Given the description of an element on the screen output the (x, y) to click on. 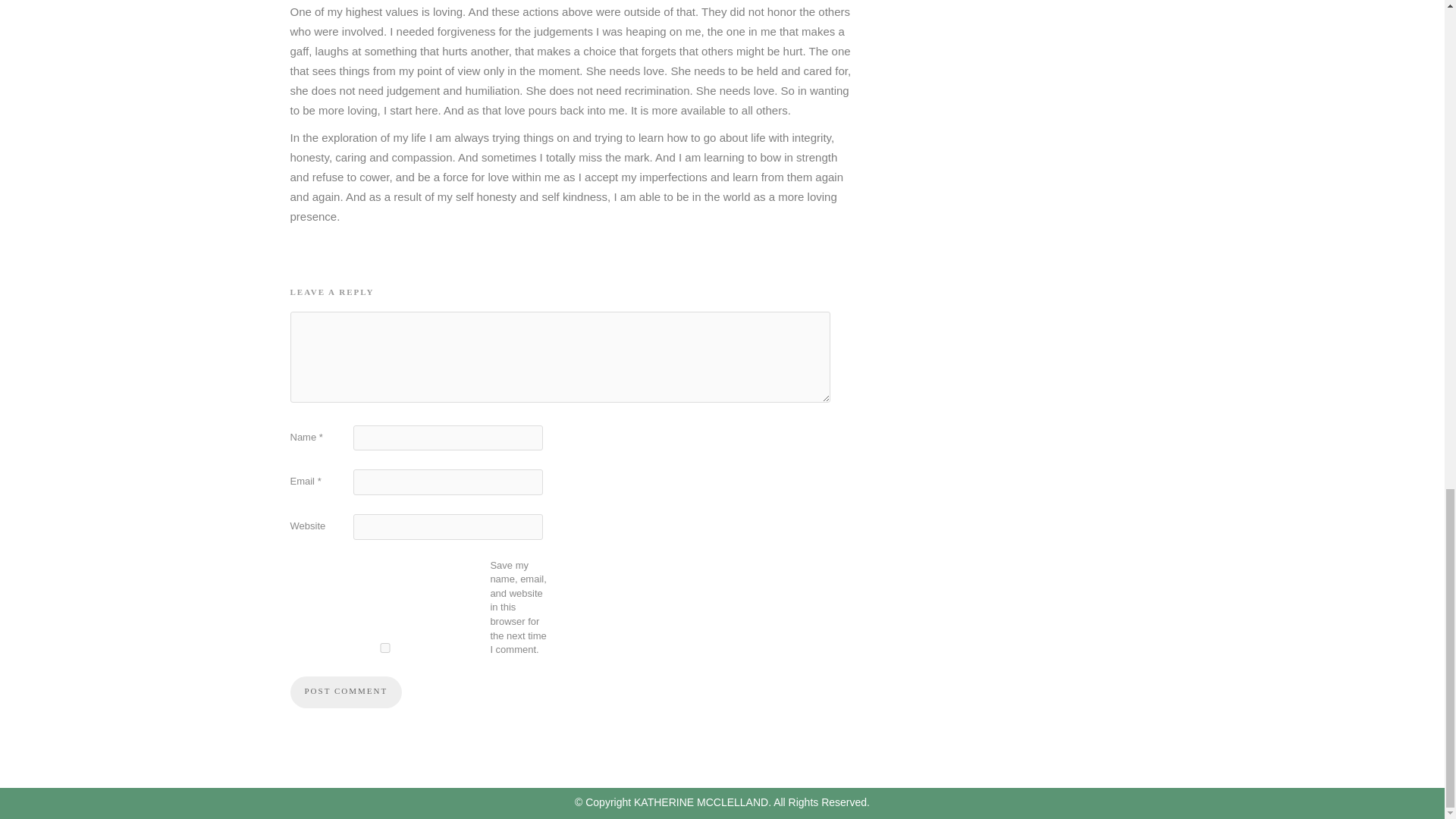
Post Comment (345, 692)
yes (384, 647)
Post Comment (345, 692)
